Given the description of an element on the screen output the (x, y) to click on. 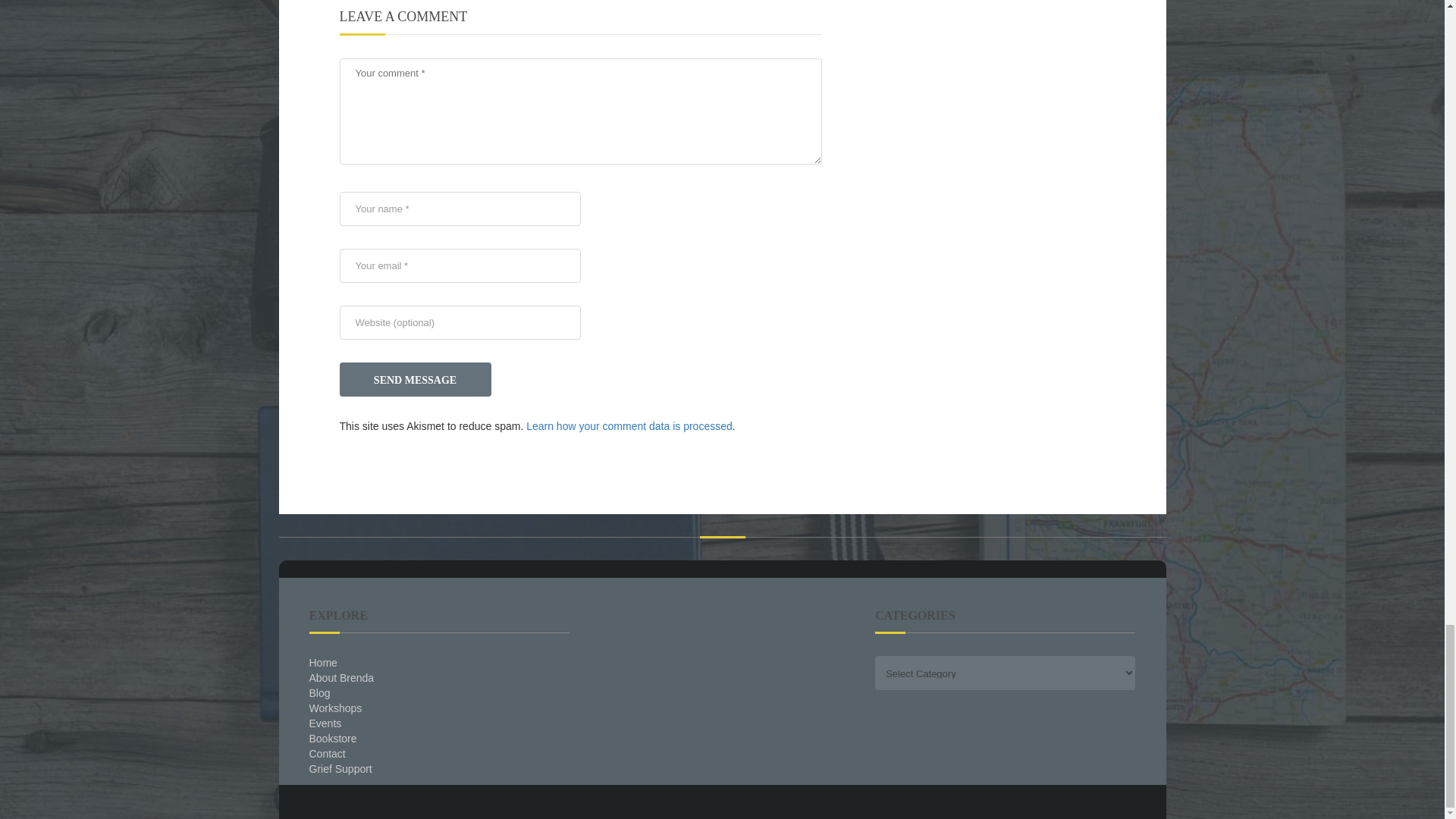
SEND MESSAGE (415, 379)
SEND MESSAGE (415, 379)
